Given the description of an element on the screen output the (x, y) to click on. 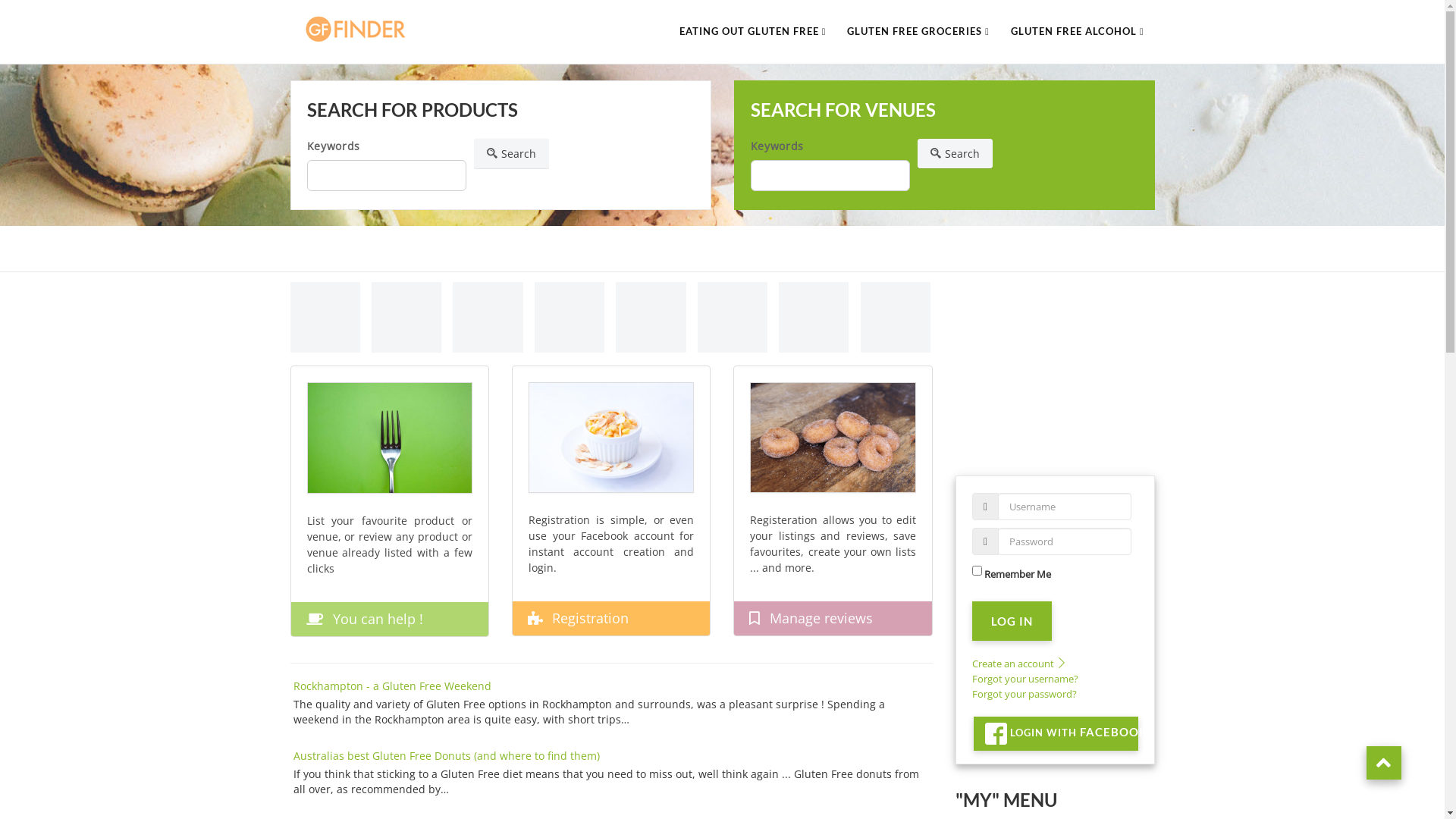
LOGIN WITH FACEBOOK Element type: text (1055, 733)
Registration Element type: text (590, 617)
Back to Top Element type: hover (1383, 762)
Search Element type: text (954, 153)
Advertisement Element type: hover (1050, 366)
Australias best Gluten Free Donuts (and where to find them) Element type: text (445, 755)
Password Element type: hover (985, 541)
Forgot your username? Element type: text (1025, 678)
Username Element type: hover (985, 506)
Rockhampton - a Gluten Free Weekend Element type: text (391, 685)
Forgot your password? Element type: text (1024, 693)
LOG IN Element type: text (1011, 620)
Search Element type: text (511, 153)
Create an account Element type: text (1021, 663)
